Given the description of an element on the screen output the (x, y) to click on. 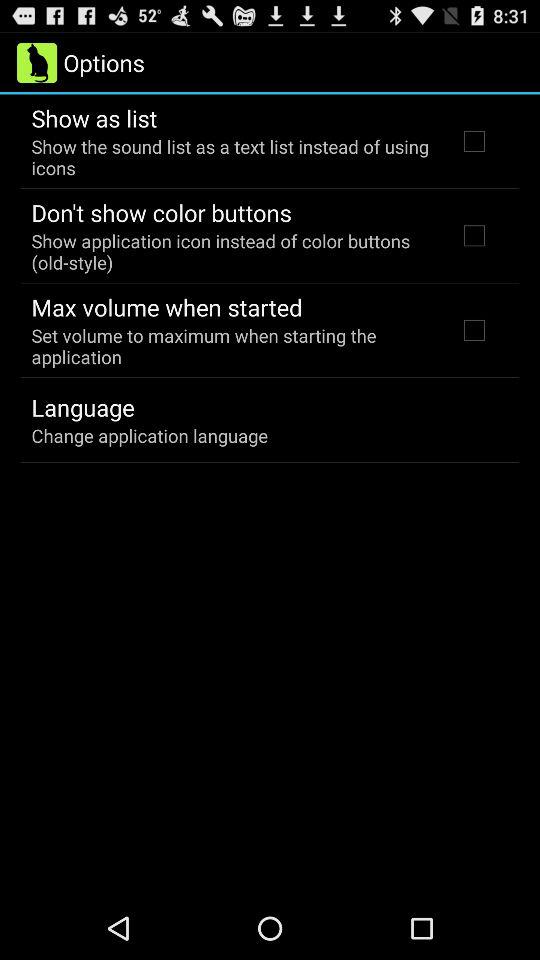
flip to the show the sound (231, 157)
